Given the description of an element on the screen output the (x, y) to click on. 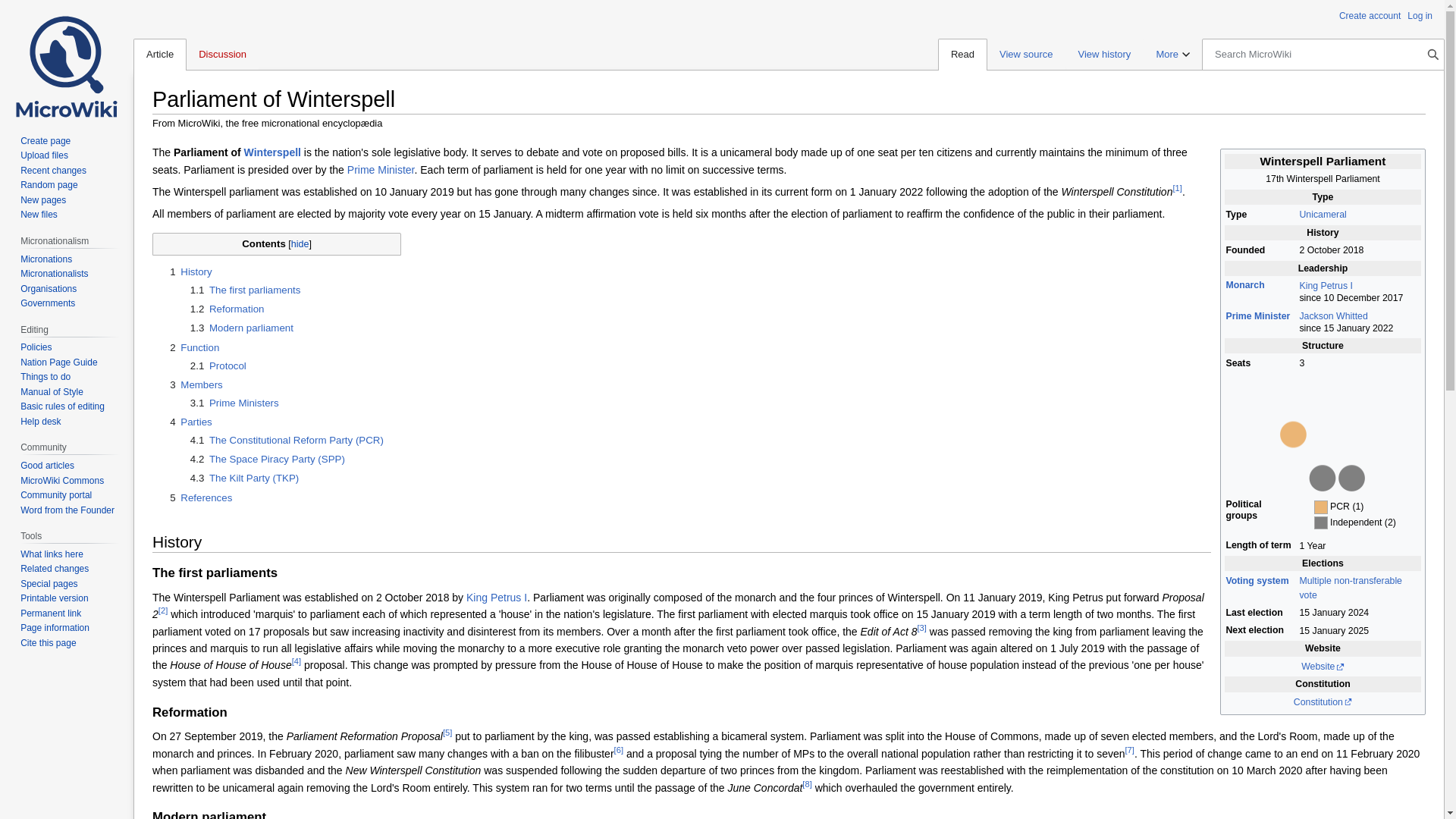
Prime Minister of Winterspell (1257, 316)
King Petrus I (1325, 285)
Unicameral (1321, 214)
3 Members (196, 384)
Petrus I of Winterspell (1325, 285)
King Petrus I (496, 597)
Monarch (1244, 285)
Constitution (1323, 701)
Unicameral (1321, 214)
Kingdom of Winterspell (272, 152)
